Given the description of an element on the screen output the (x, y) to click on. 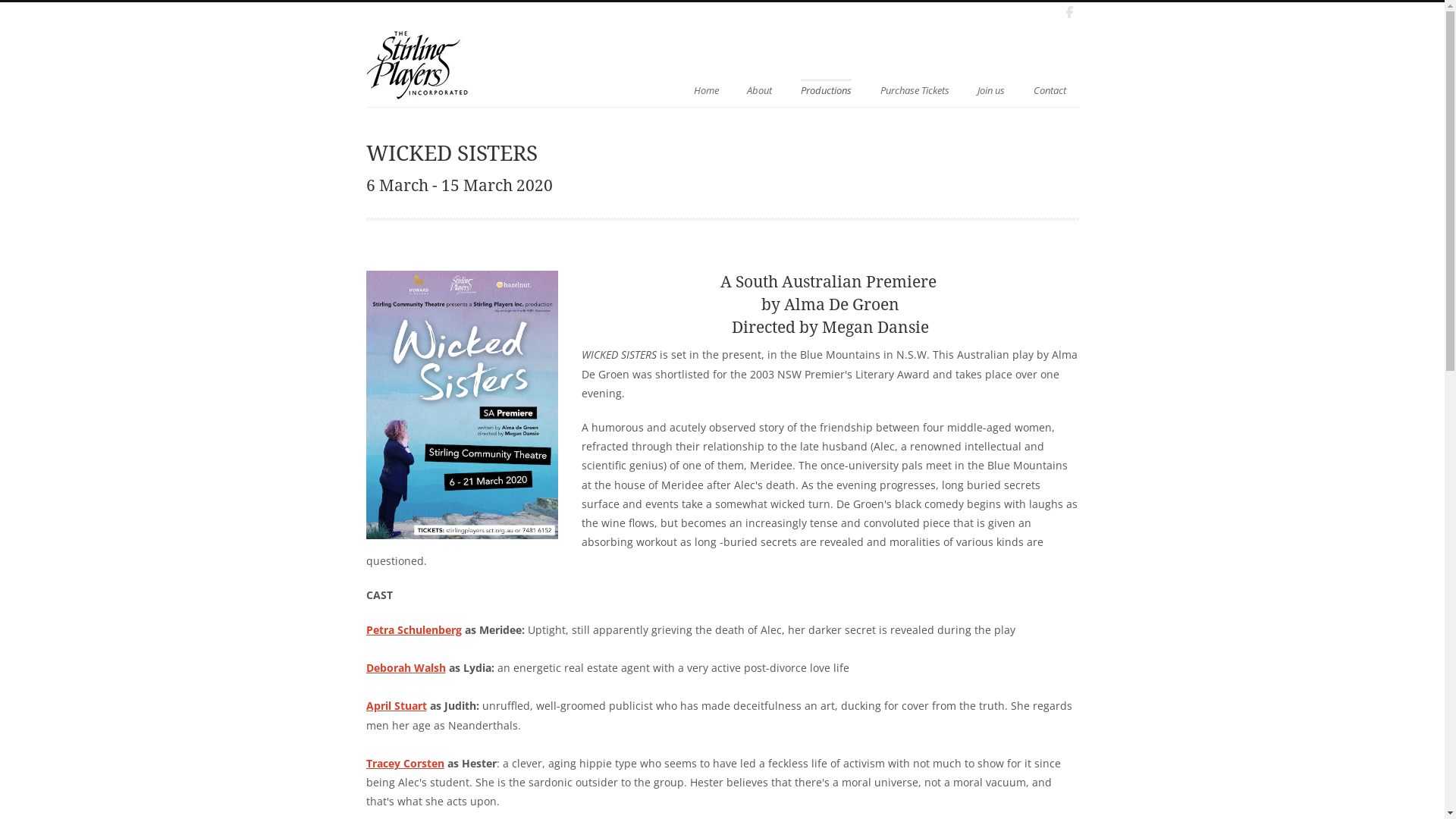
Home Element type: text (705, 89)
Purchase Tickets Element type: text (914, 89)
Petra Schulenberg Element type: text (413, 629)
Find us on Facebook Element type: hover (1068, 11)
Tracey Corsten Element type: text (404, 763)
About Element type: text (758, 89)
Deborah Walsh Element type: text (405, 667)
Contact Element type: text (1049, 89)
Join us Element type: text (990, 89)
Productions Element type: text (825, 87)
April Stuart Element type: text (395, 705)
